Given the description of an element on the screen output the (x, y) to click on. 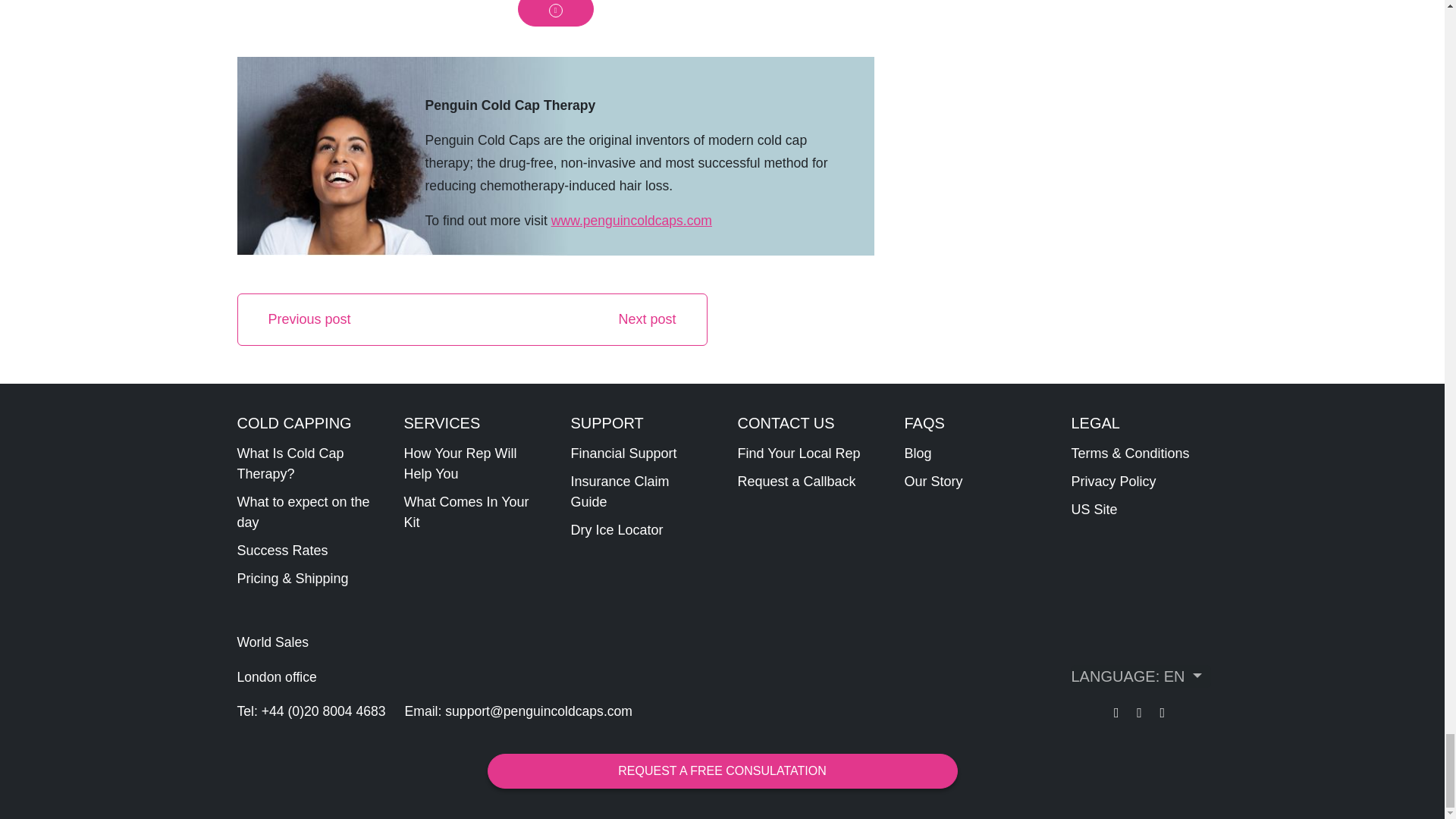
Penguin Cold Caps Twitter (1162, 712)
Penguin Cold Caps Instagram (1141, 712)
Penguin Cold Caps Facebook (1117, 712)
